Given the description of an element on the screen output the (x, y) to click on. 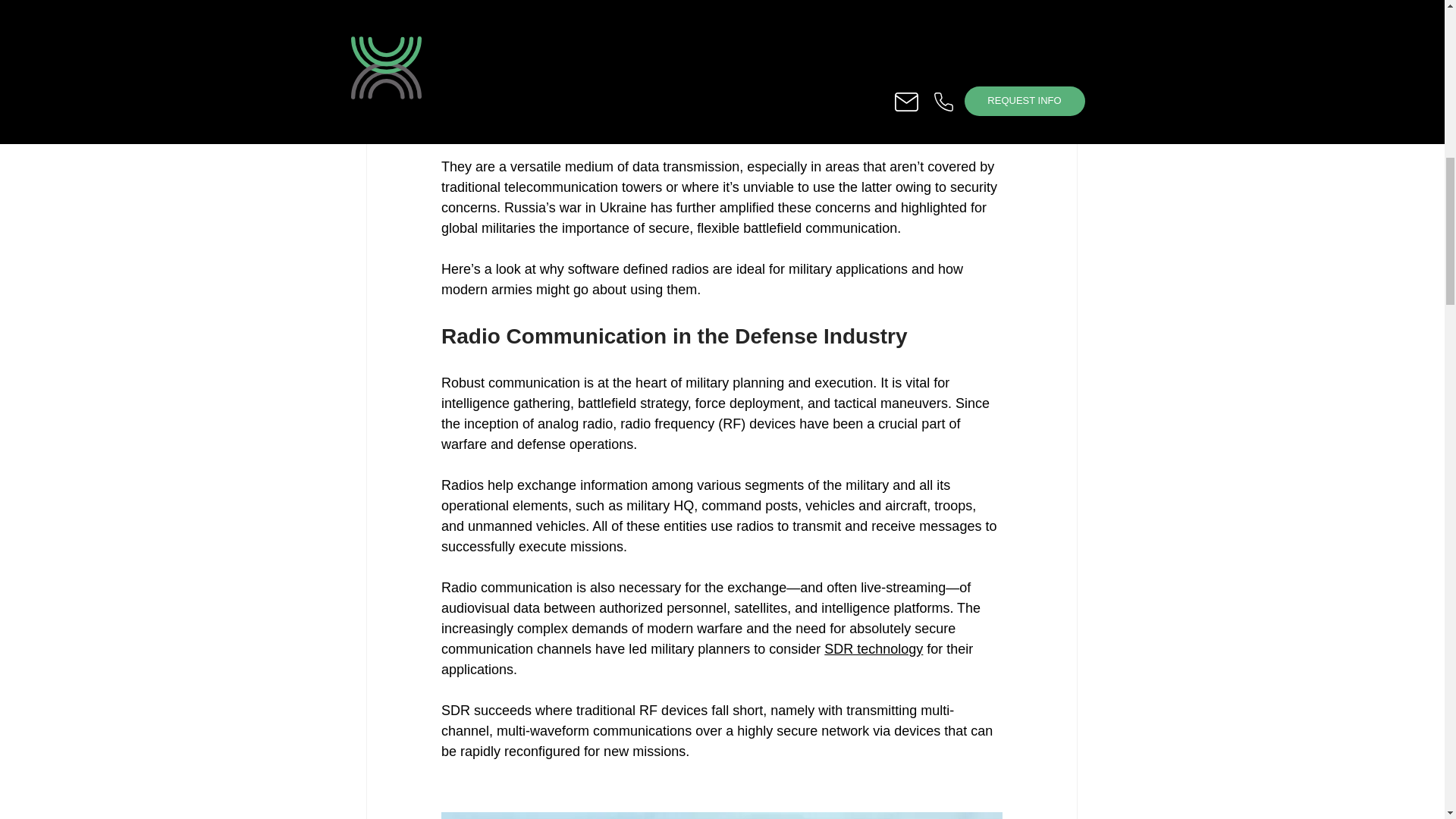
SDR technology (873, 648)
communication for defense forces (877, 84)
